Given the description of an element on the screen output the (x, y) to click on. 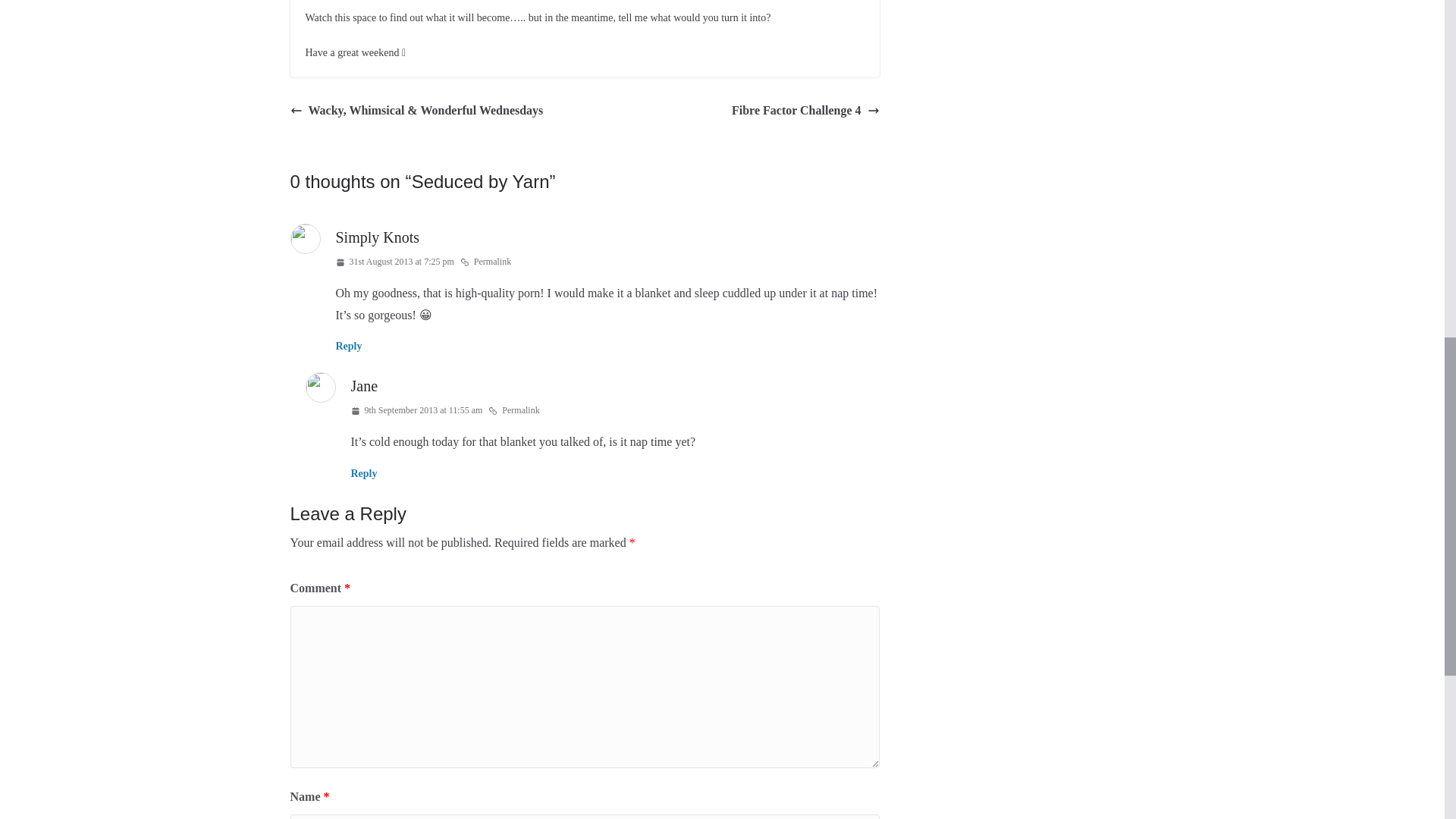
Permalink (512, 410)
Reply (347, 346)
Permalink (485, 262)
Jane (363, 385)
Fibre Factor Challenge 4 (805, 110)
Simply Knots (376, 237)
Reply (363, 473)
